Given the description of an element on the screen output the (x, y) to click on. 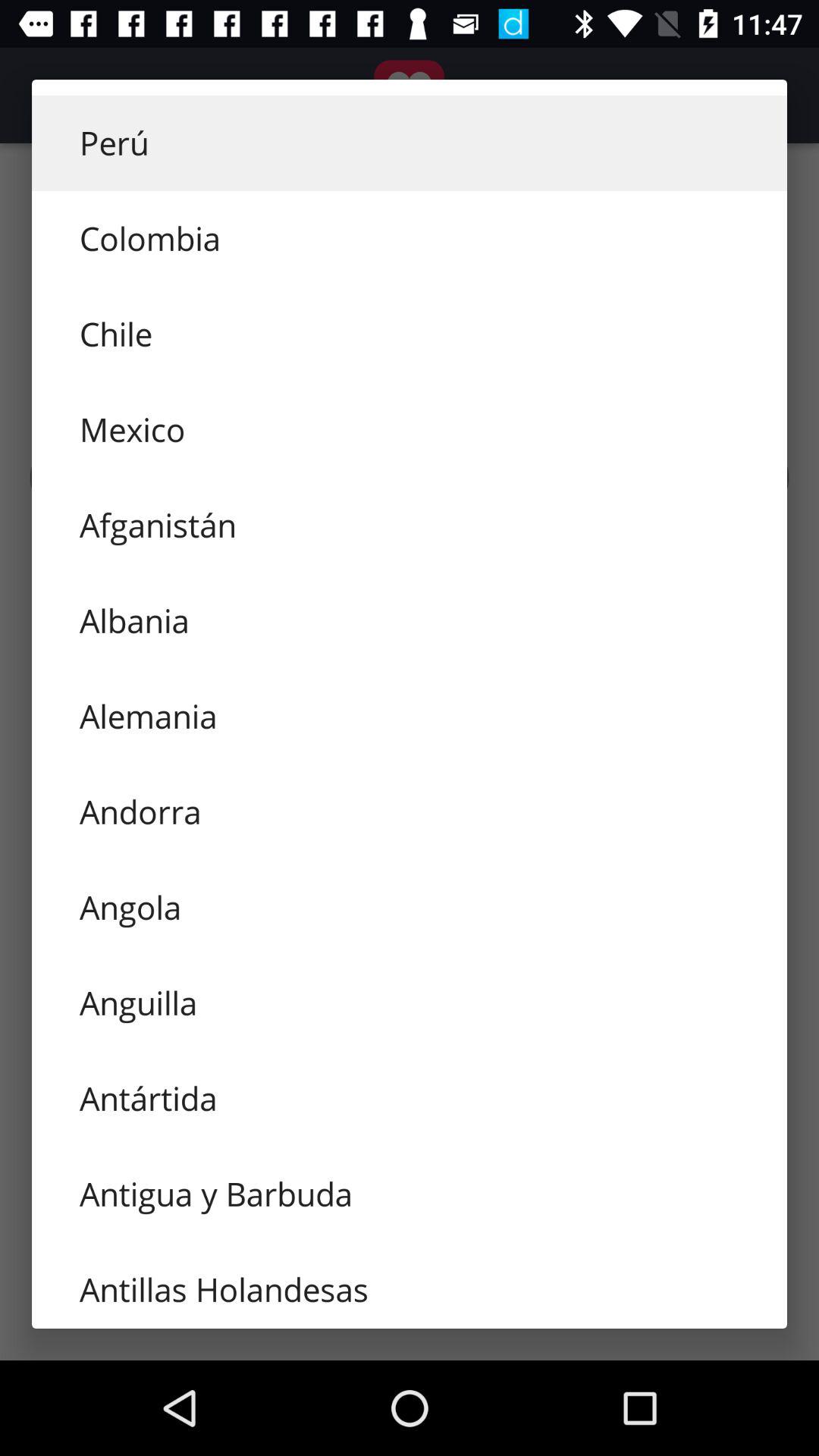
select item above the antillas holandesas (409, 1194)
